Given the description of an element on the screen output the (x, y) to click on. 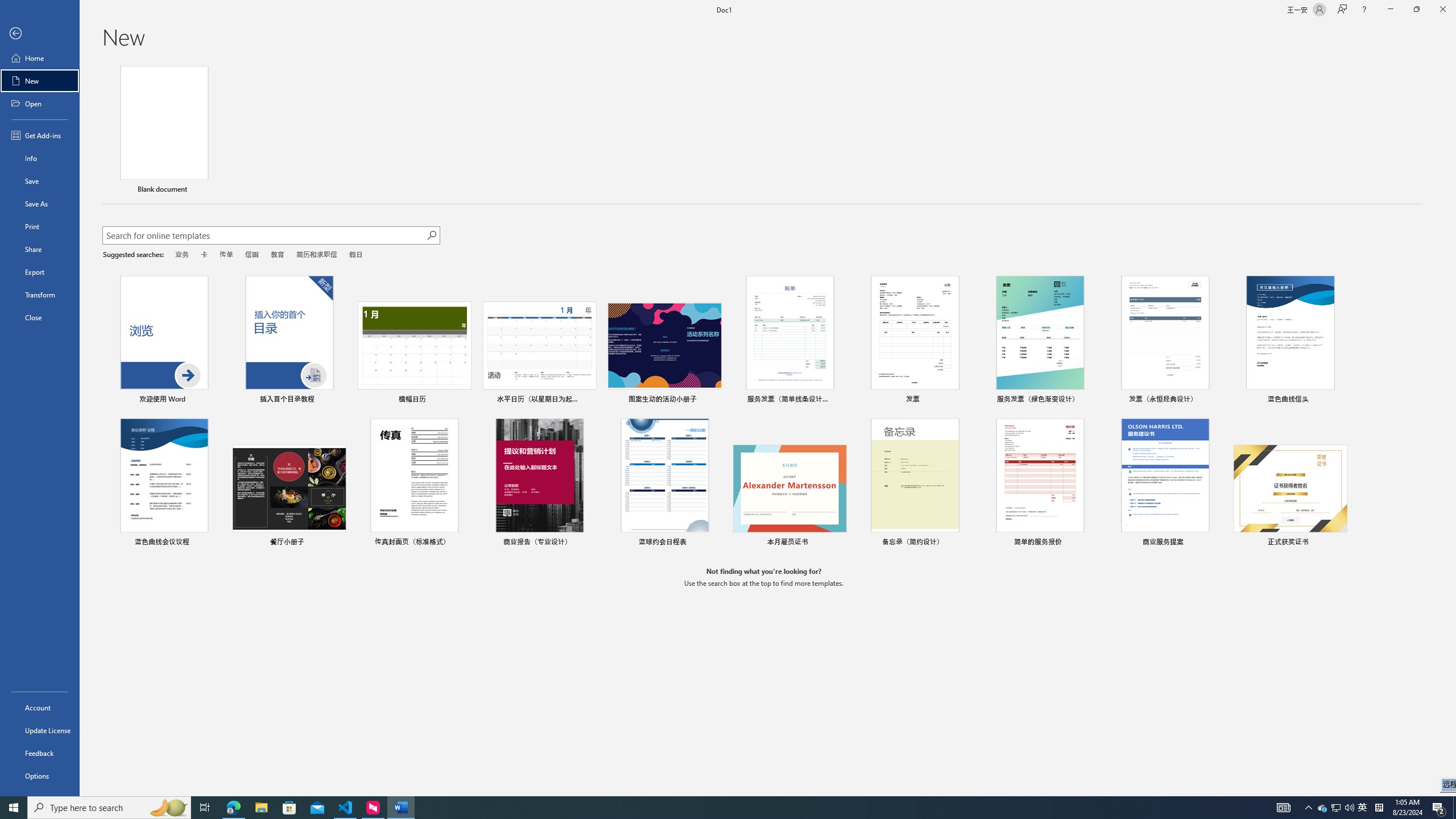
Update License (40, 730)
Class: NetUIScrollBar (1450, 428)
Options (40, 775)
Close (1442, 9)
Start searching (431, 235)
Help (1364, 9)
